Given the description of an element on the screen output the (x, y) to click on. 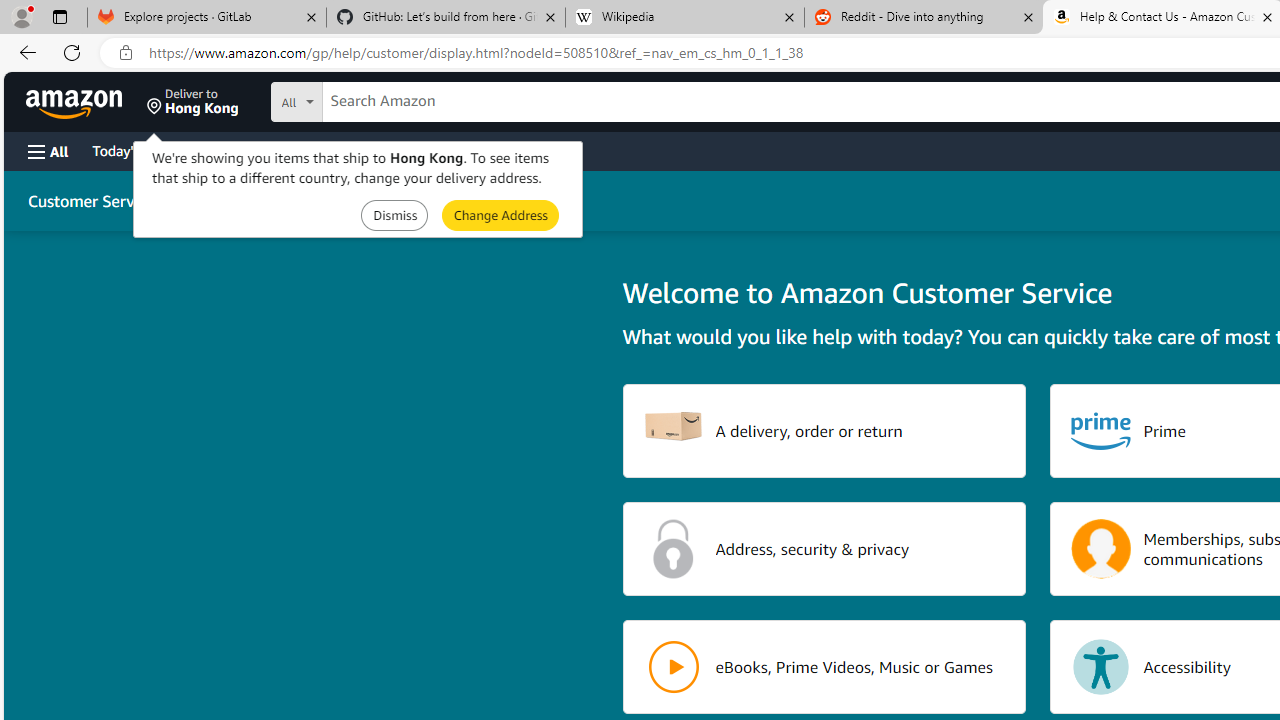
Submit (499, 214)
eBooks, Prime Videos, Music or Games (824, 666)
Customer Service (91, 200)
Deliver to Hong Kong (193, 101)
Gift Cards (442, 150)
Address, security & privacy (824, 548)
Today's Deals (134, 150)
